Given the description of an element on the screen output the (x, y) to click on. 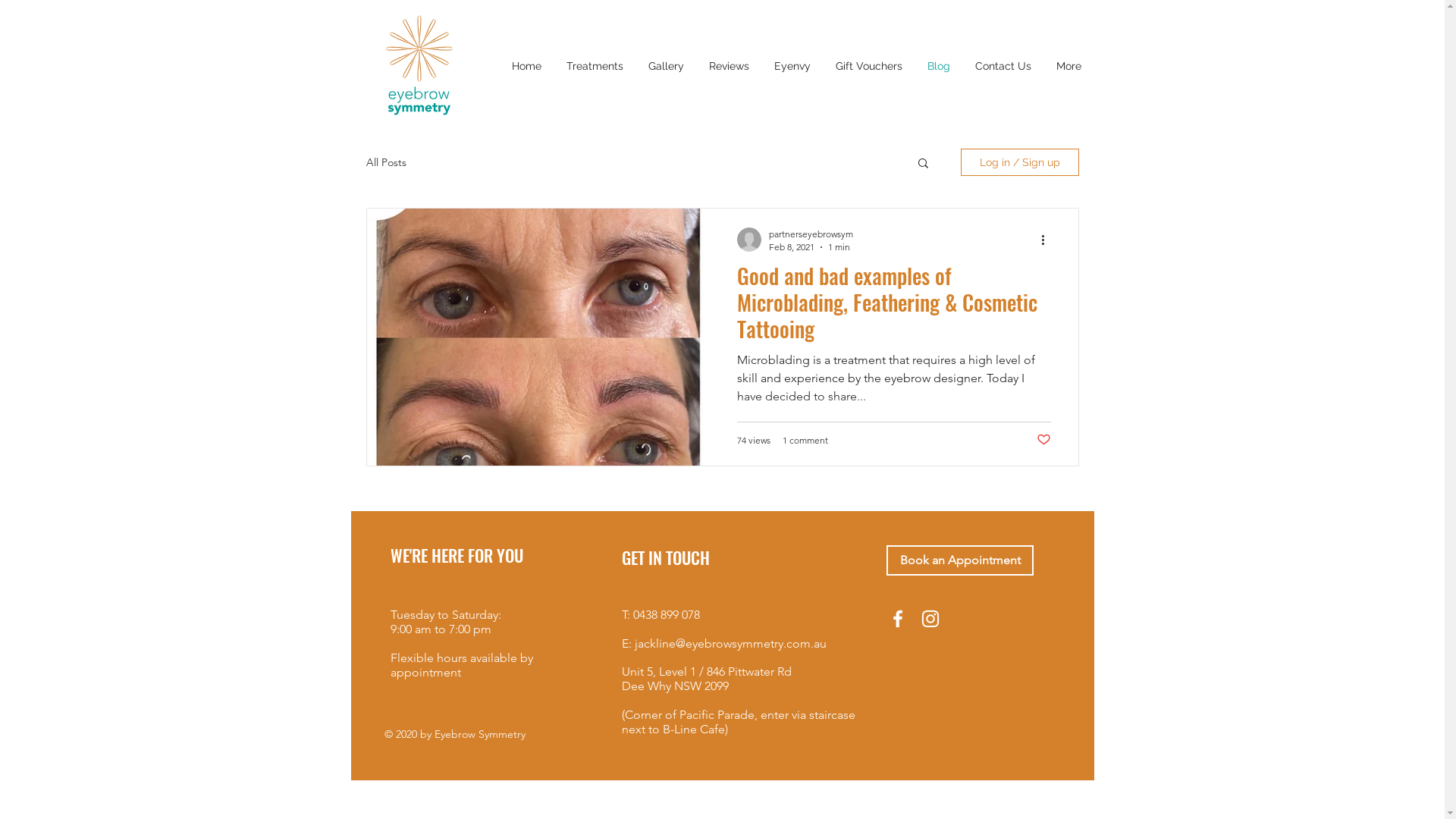
1 comment Element type: text (805, 439)
Reviews Element type: text (728, 65)
Log in / Sign up Element type: text (1019, 161)
Gallery Element type: text (665, 65)
jackline@eyebrowsymmetry.com.au Element type: text (729, 643)
Post not marked as liked Element type: text (1042, 440)
Blog Element type: text (938, 65)
All Posts Element type: text (385, 162)
Gift Vouchers Element type: text (869, 65)
Contact Us Element type: text (1003, 65)
Home Element type: text (526, 65)
Book an Appointment Element type: text (958, 560)
Eyenvy Element type: text (791, 65)
